Given the description of an element on the screen output the (x, y) to click on. 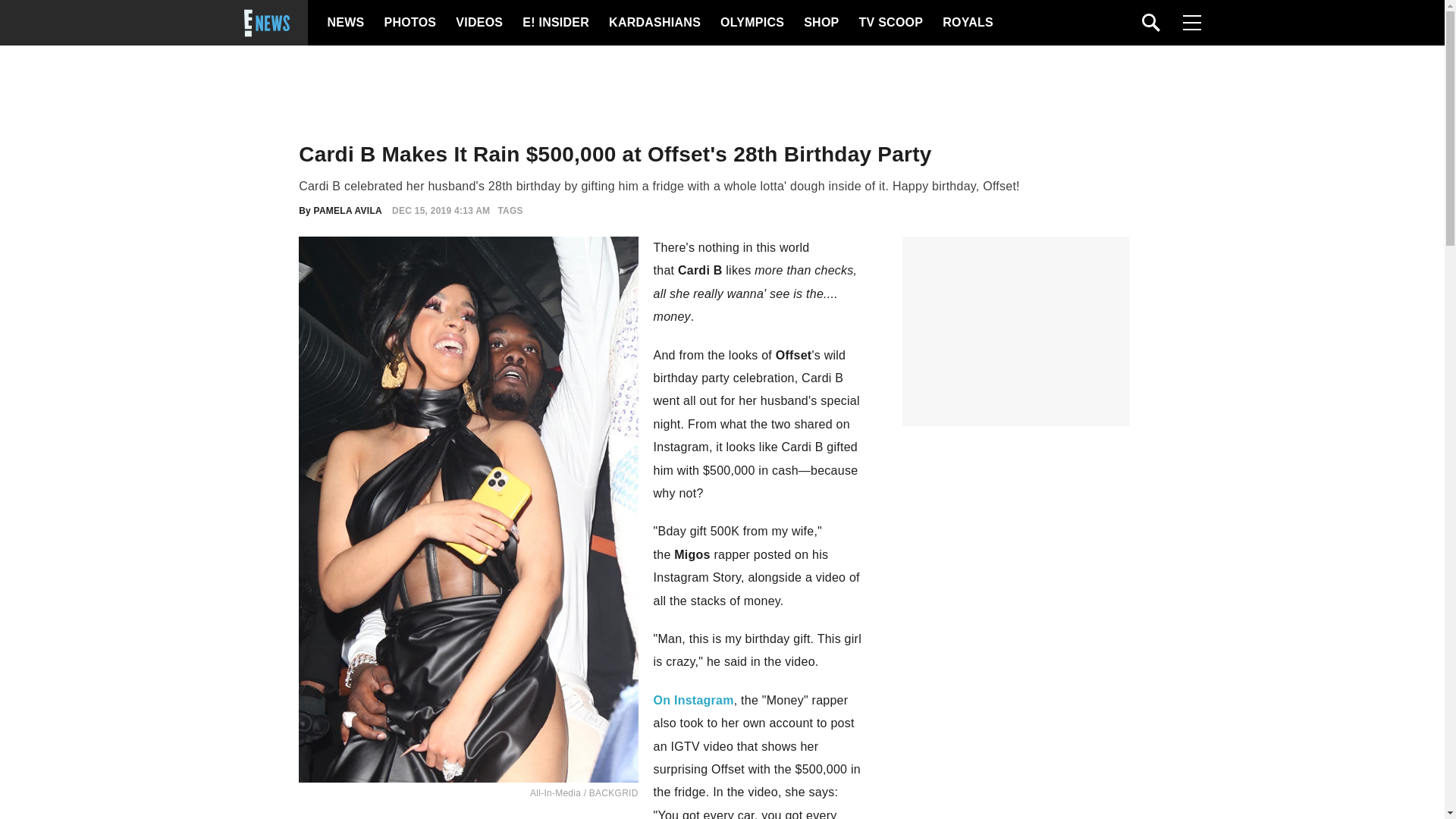
On Instagram (693, 699)
NEWS (345, 22)
PAMELA AVILA (347, 210)
OLYMPICS (751, 22)
SHOP (820, 22)
ROYALS (966, 22)
VIDEOS (478, 22)
E! INSIDER (555, 22)
TV SCOOP (890, 22)
PHOTOS (408, 22)
KARDASHIANS (653, 22)
